Given the description of an element on the screen output the (x, y) to click on. 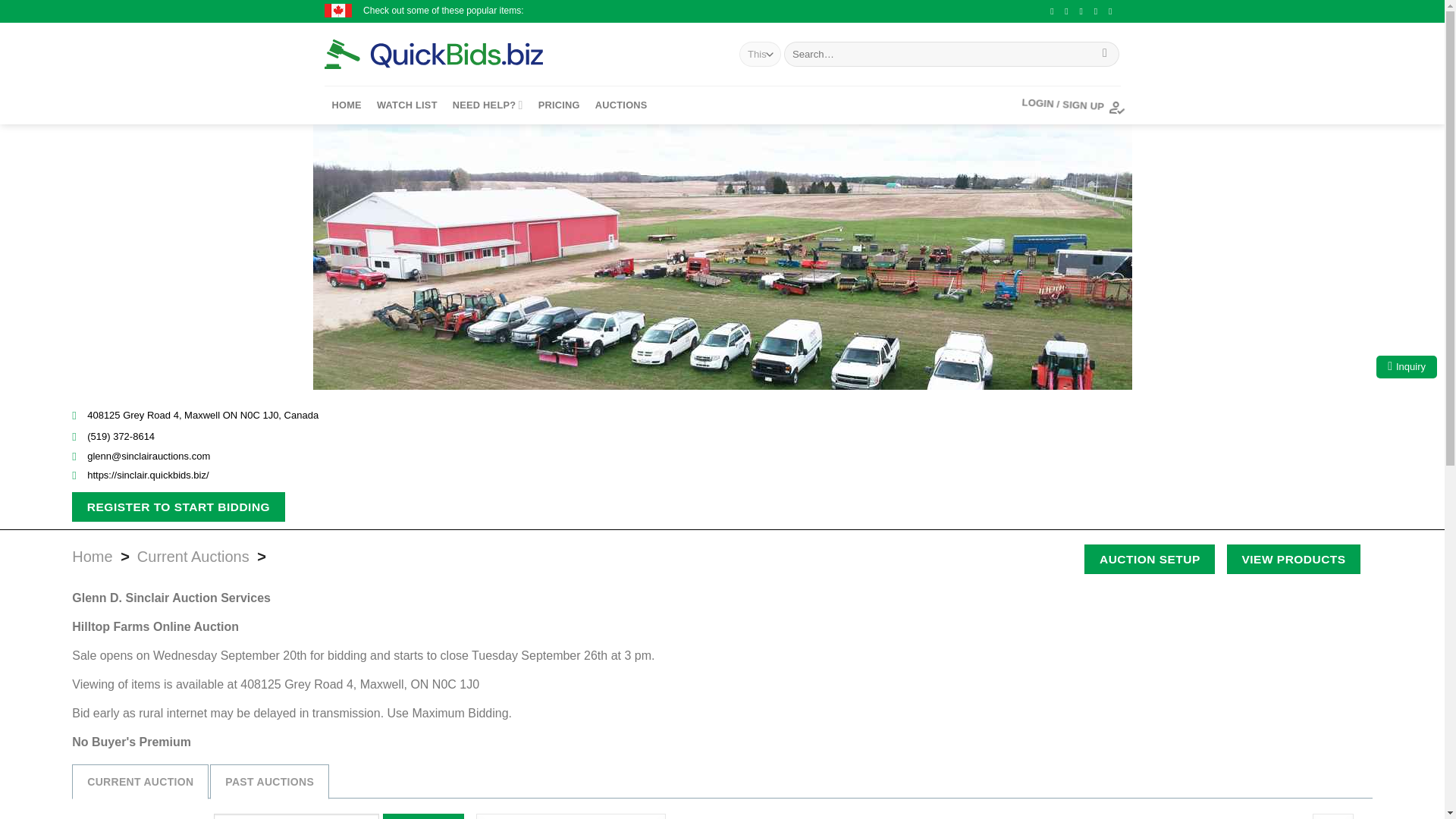
Quick Bids - Online Auctions (456, 54)
NEED HELP? (487, 104)
AUCTIONS (621, 104)
Search (423, 816)
Search (1105, 54)
WATCH LIST (407, 104)
Search for: (296, 816)
PRICING (558, 104)
